Given the description of an element on the screen output the (x, y) to click on. 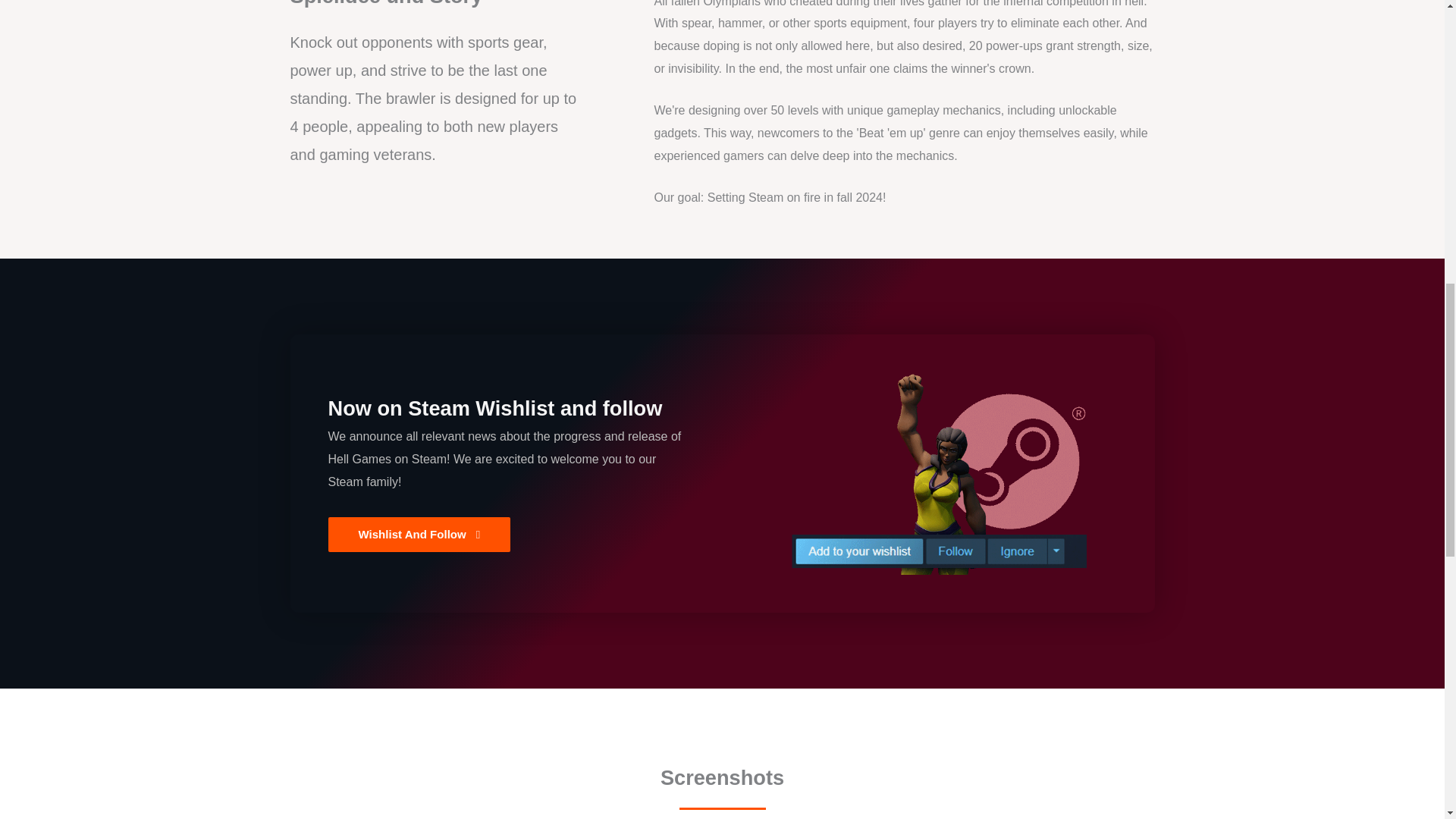
Wishlist And Follow (419, 534)
